Given the description of an element on the screen output the (x, y) to click on. 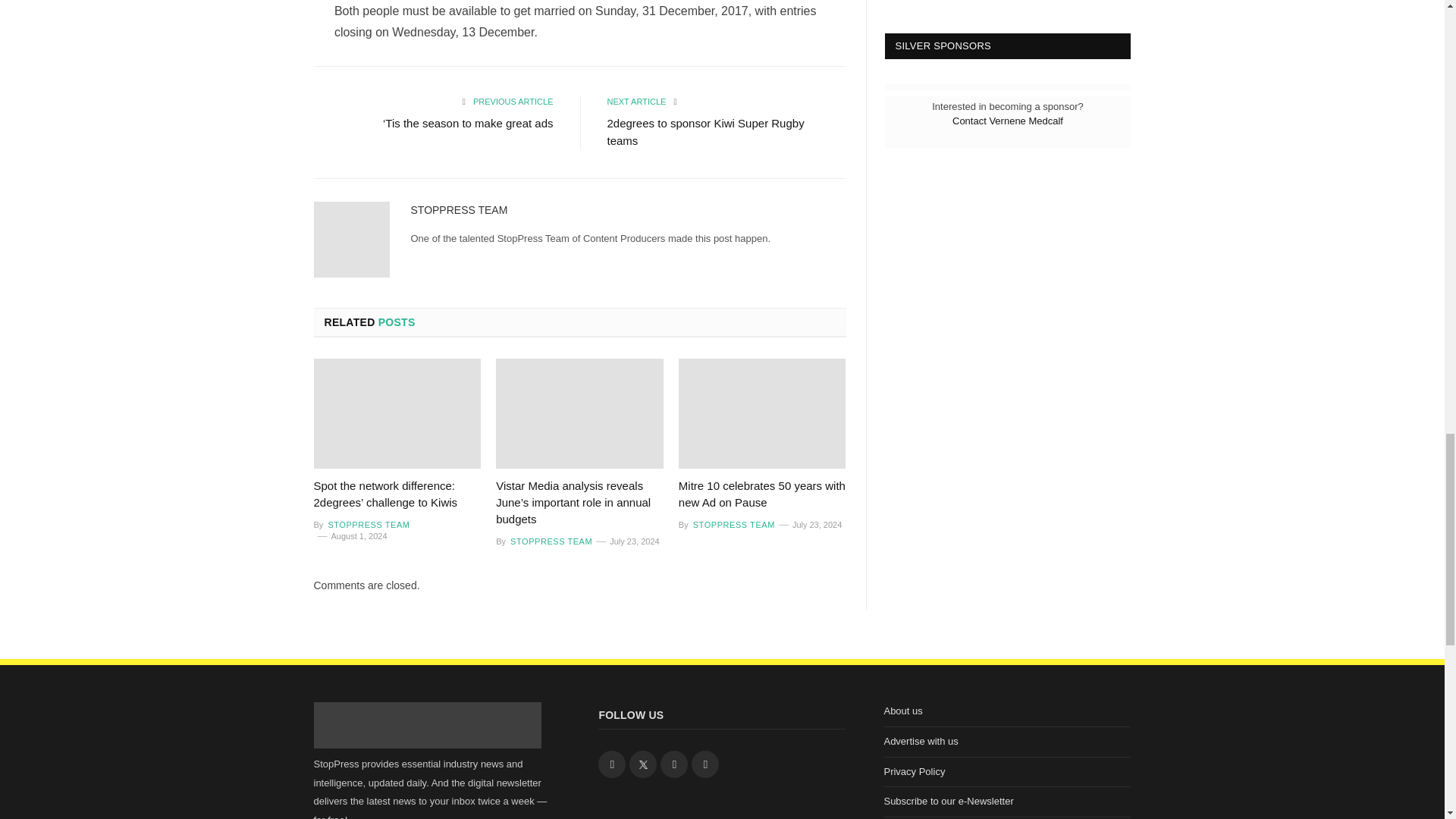
Posts by StopPress Team (366, 524)
Posts by StopPress Team (459, 209)
